Given the description of an element on the screen output the (x, y) to click on. 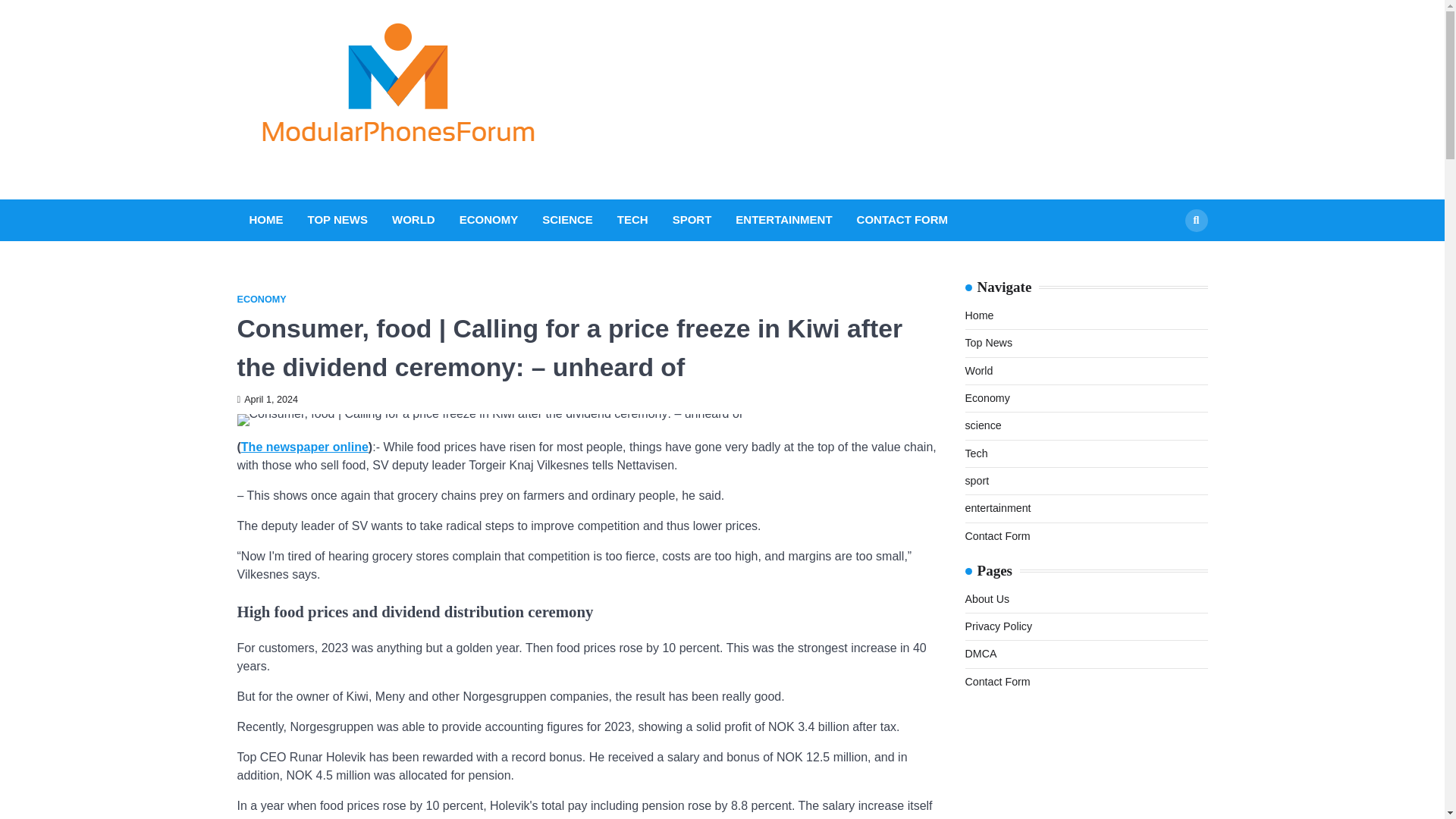
CONTACT FORM (902, 220)
Privacy Policy (997, 625)
Search (1168, 256)
Search (1196, 220)
entertainment (996, 508)
World (977, 370)
WORLD (413, 220)
Home (977, 315)
Tech (975, 453)
TOP NEWS (337, 220)
